Given the description of an element on the screen output the (x, y) to click on. 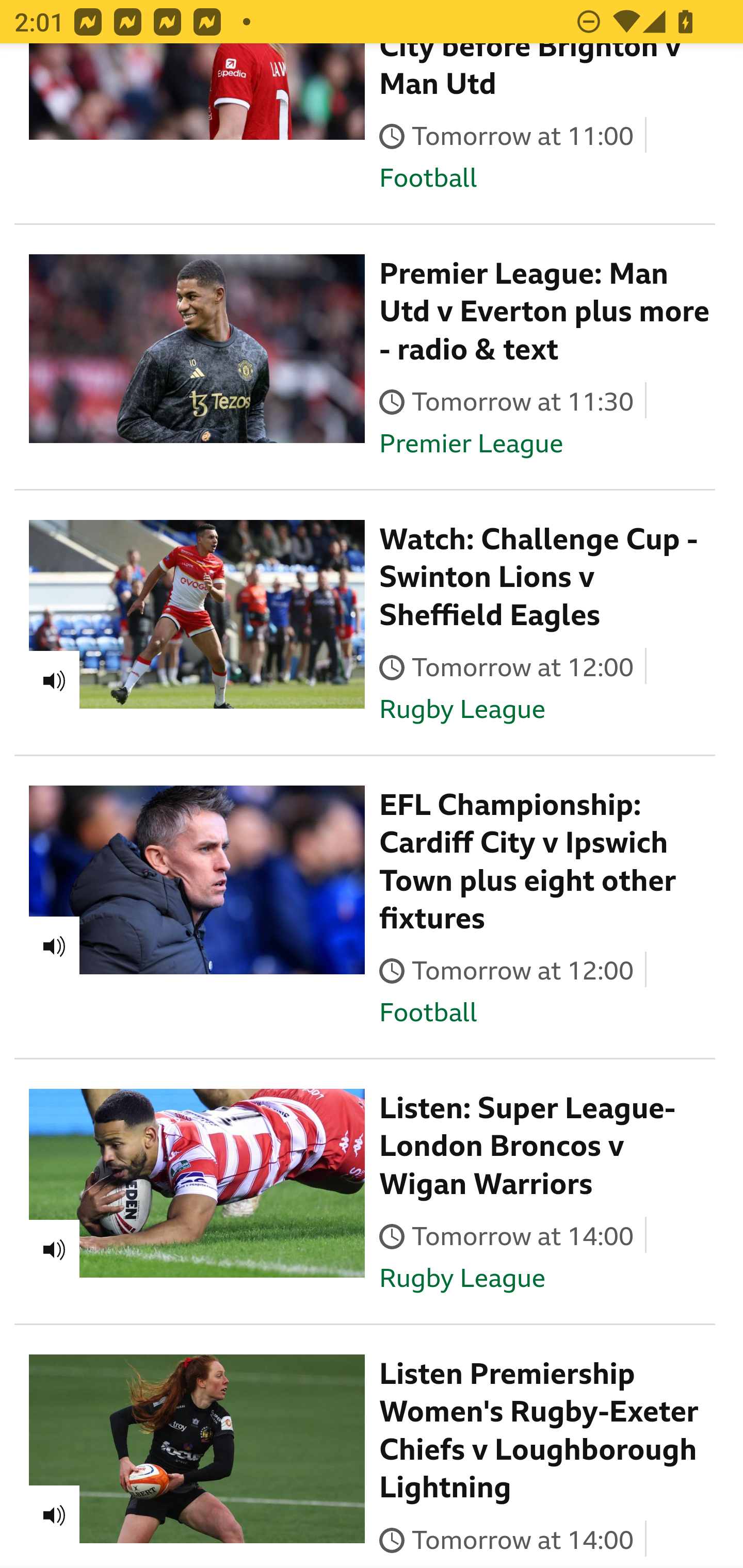
Football (428, 178)
Premier League (470, 444)
Rugby League (462, 710)
Football (428, 1014)
Rugby League (462, 1279)
